Given the description of an element on the screen output the (x, y) to click on. 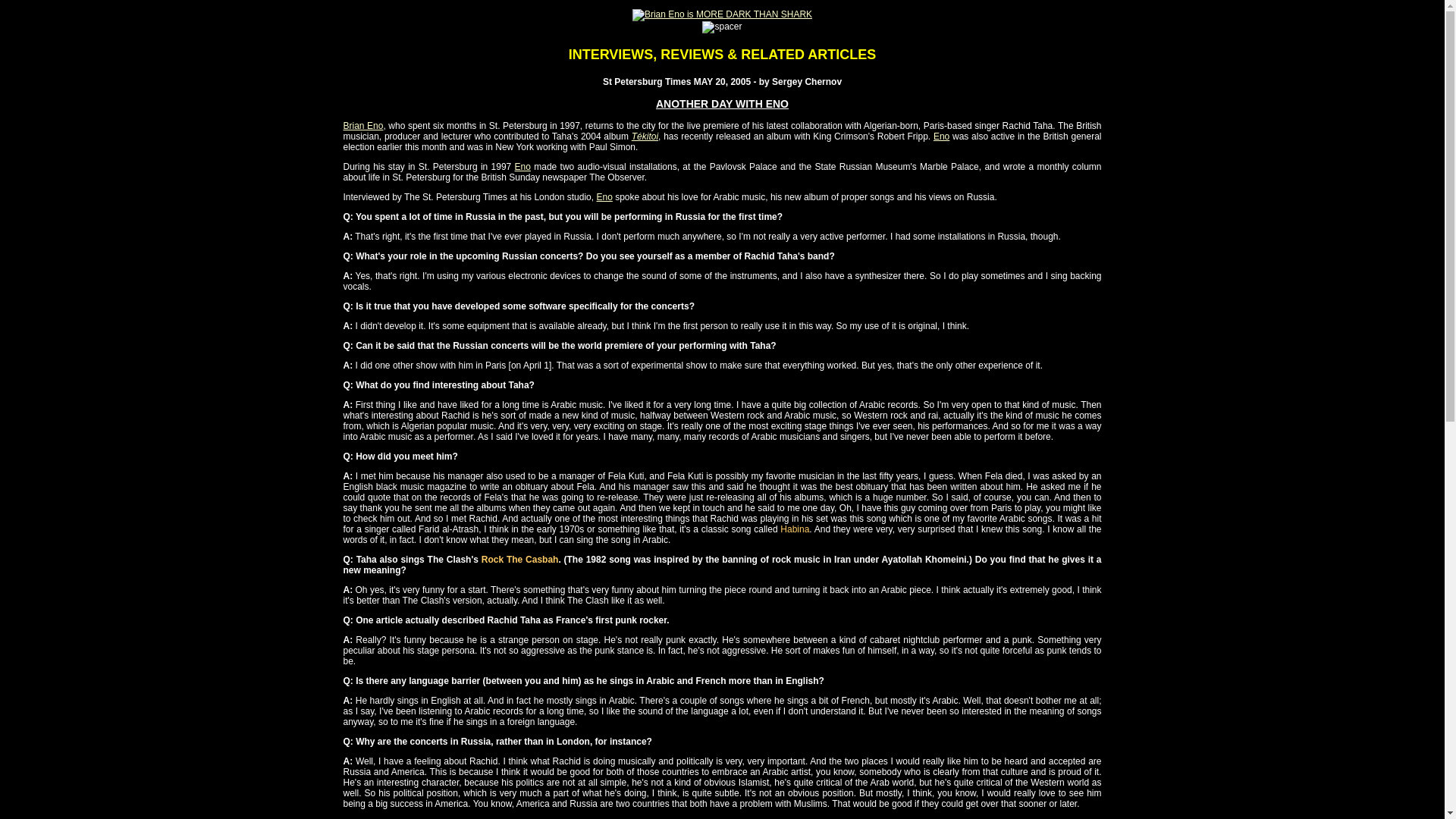
Brian Eno (362, 125)
Eno (523, 166)
Eno (603, 196)
Eno (941, 136)
